Given the description of an element on the screen output the (x, y) to click on. 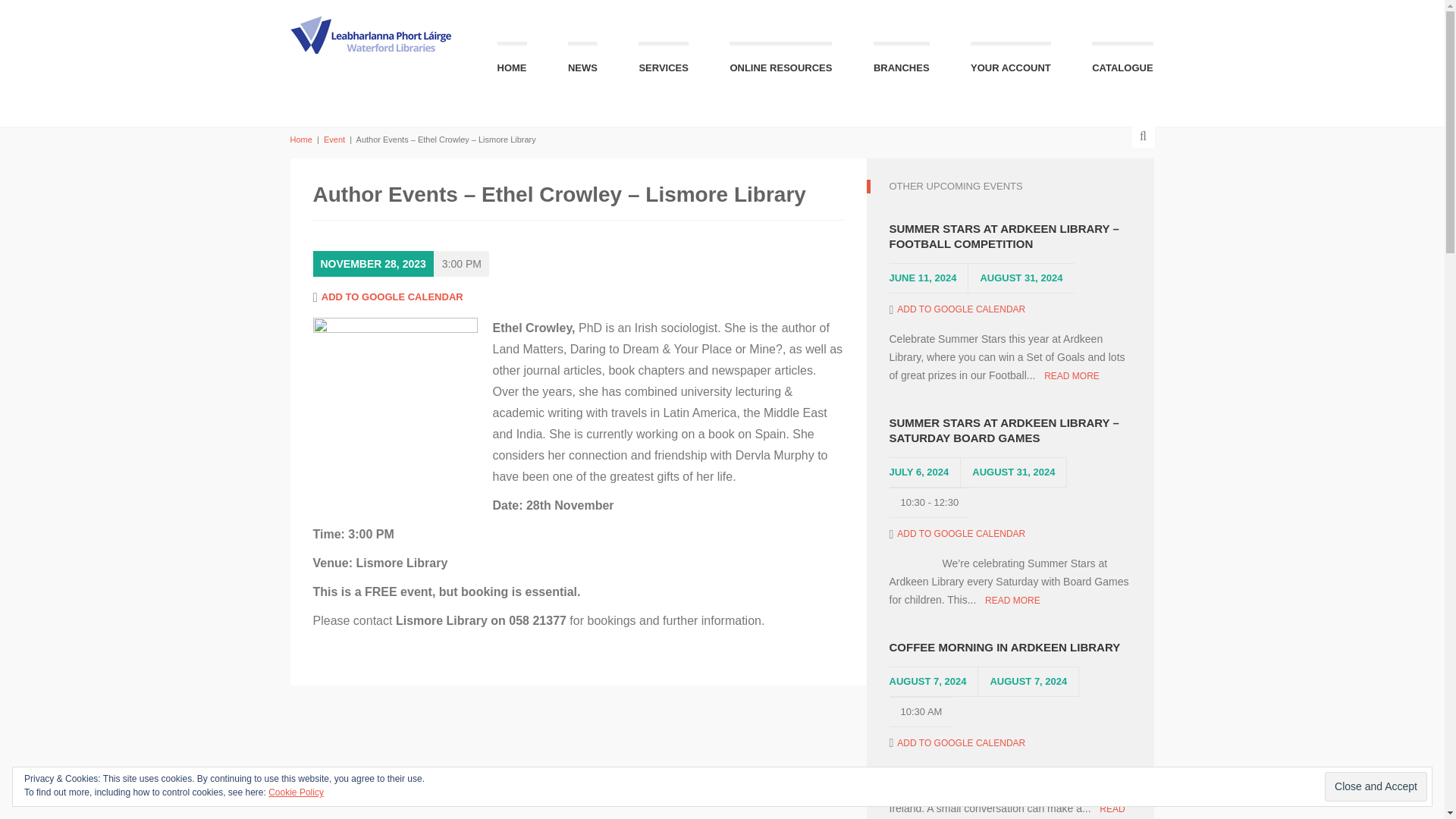
Permalink to: Coffee Morning in Ardkeen Library (1009, 647)
SERVICES (663, 62)
ONLINE RESOURCES (780, 62)
YOUR ACCOUNT (1011, 62)
Close and Accept (1375, 786)
BRANCHES (901, 62)
CATALOGUE (1122, 62)
